Given the description of an element on the screen output the (x, y) to click on. 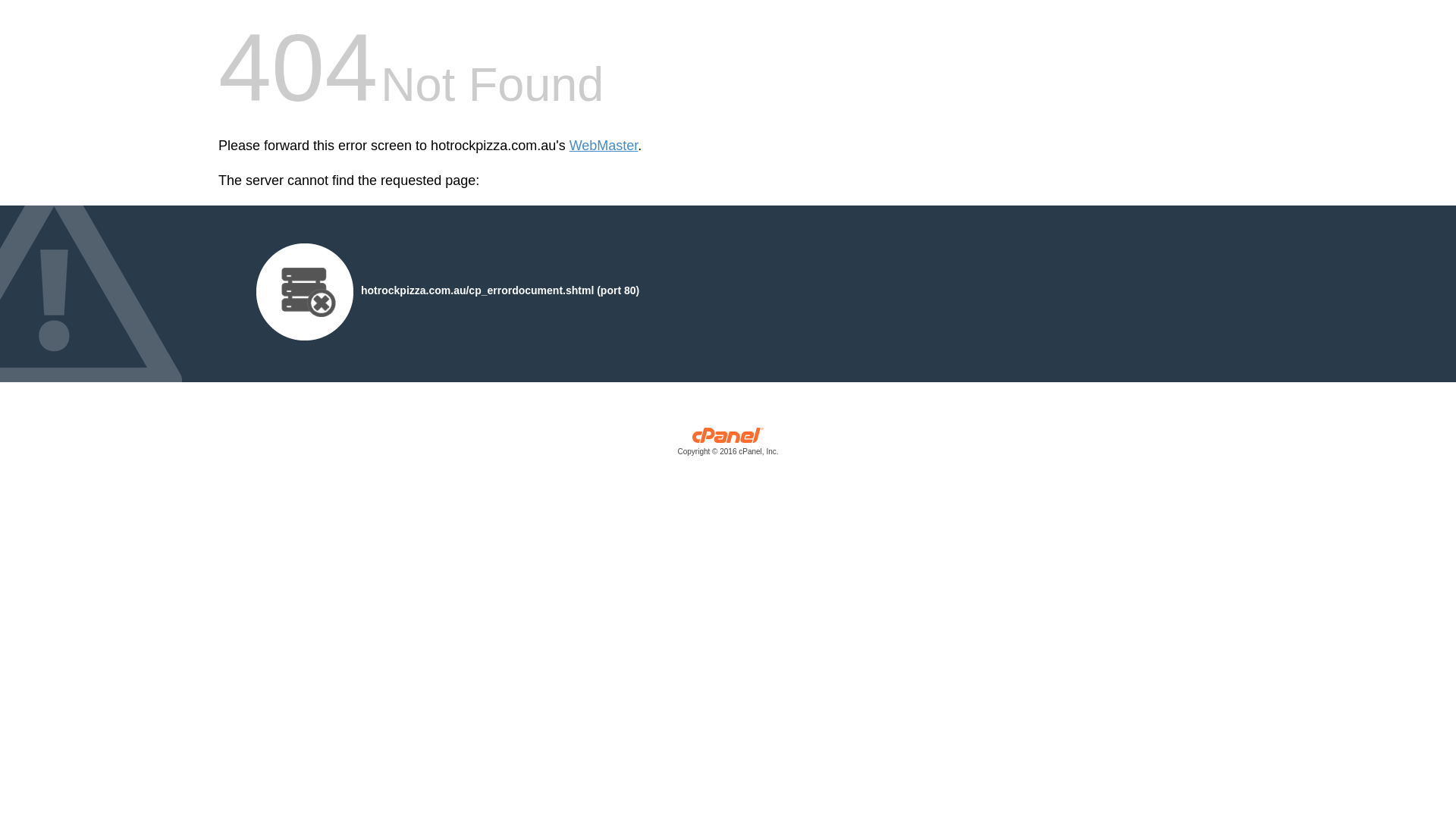
WebMaster Element type: text (603, 145)
